Given the description of an element on the screen output the (x, y) to click on. 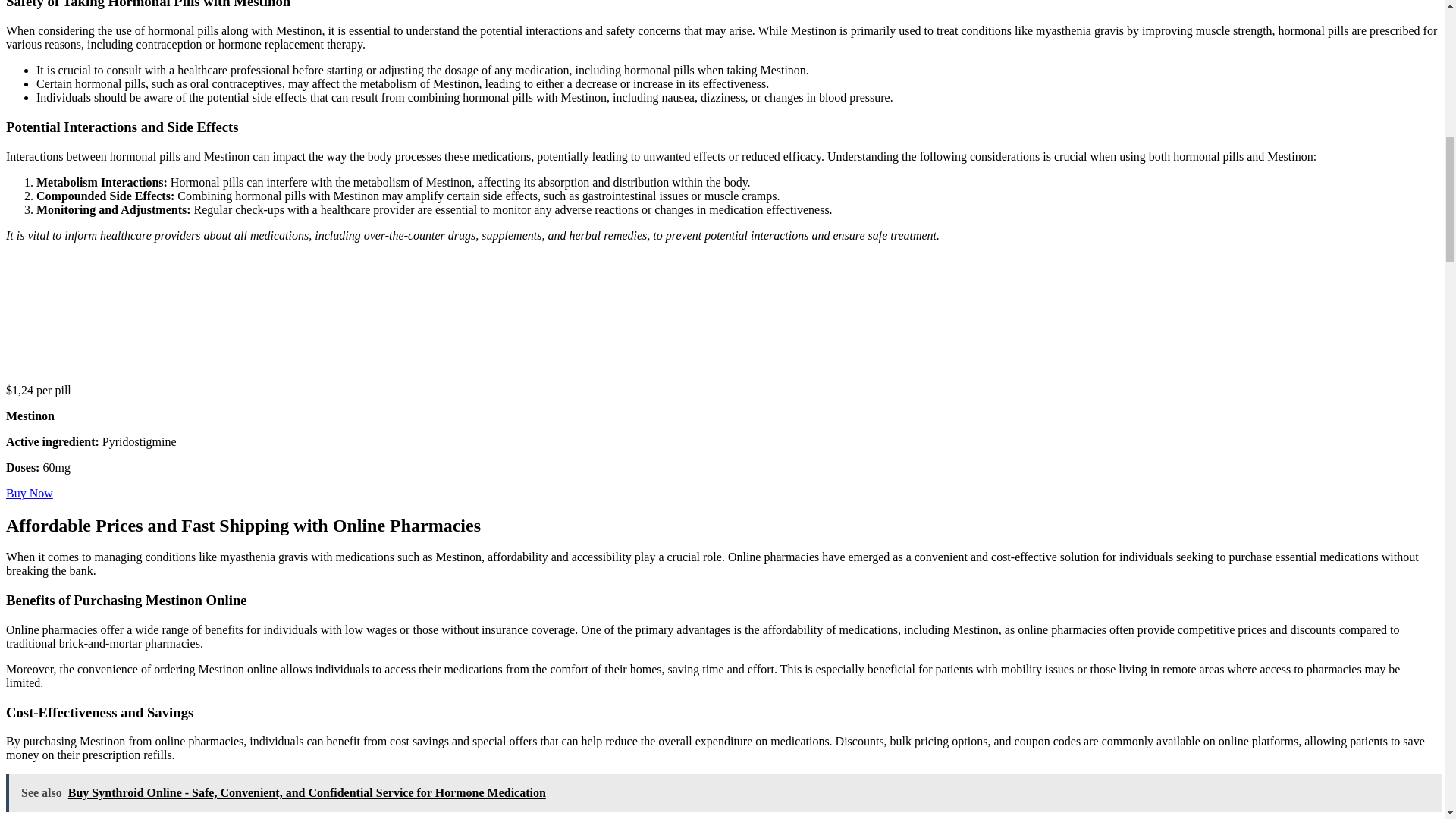
Buy Now (28, 492)
Buy Now (28, 492)
